Given the description of an element on the screen output the (x, y) to click on. 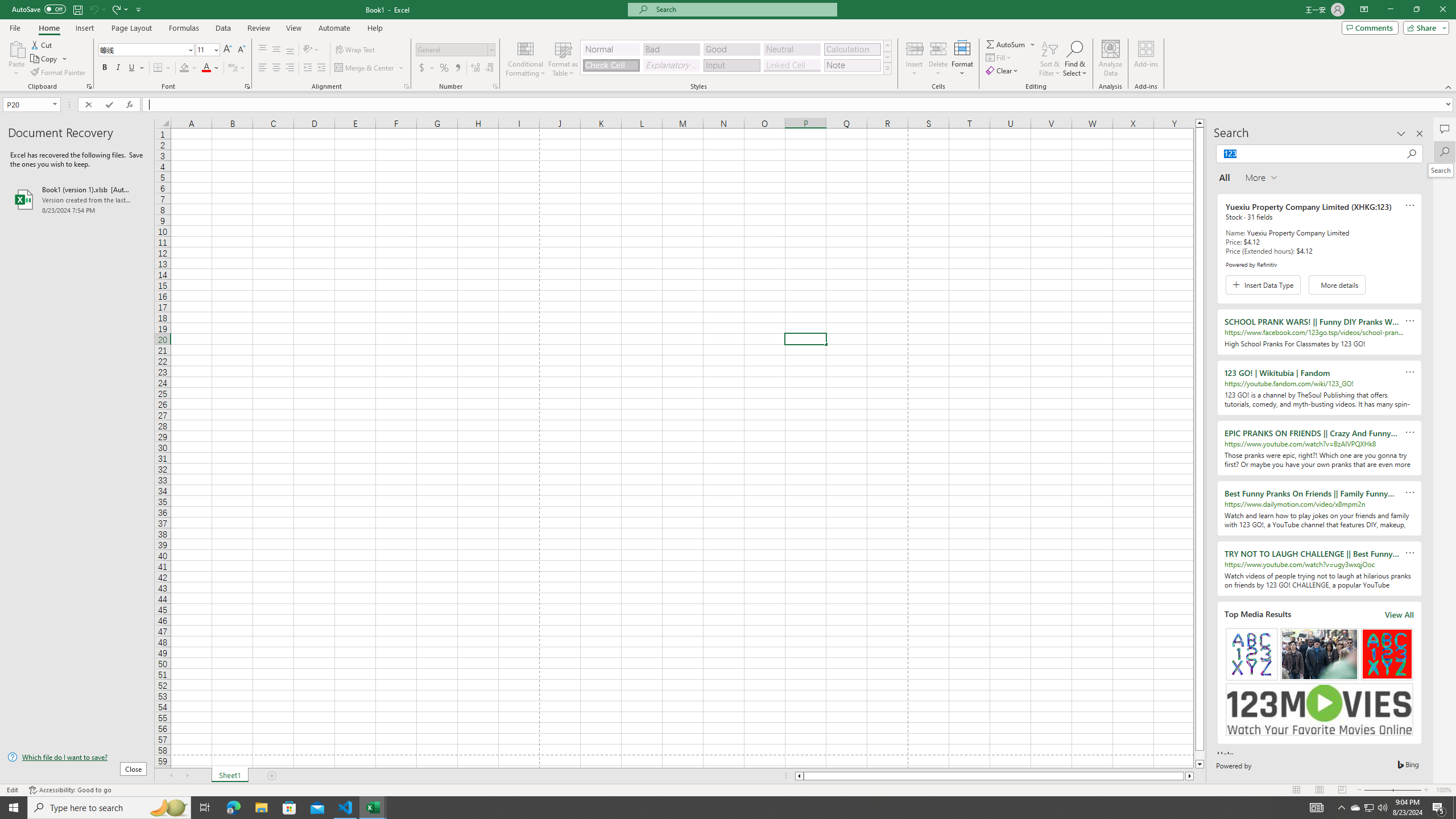
Font Size (207, 49)
Format (962, 58)
Paste (16, 58)
Increase Decimal (474, 67)
